Given the description of an element on the screen output the (x, y) to click on. 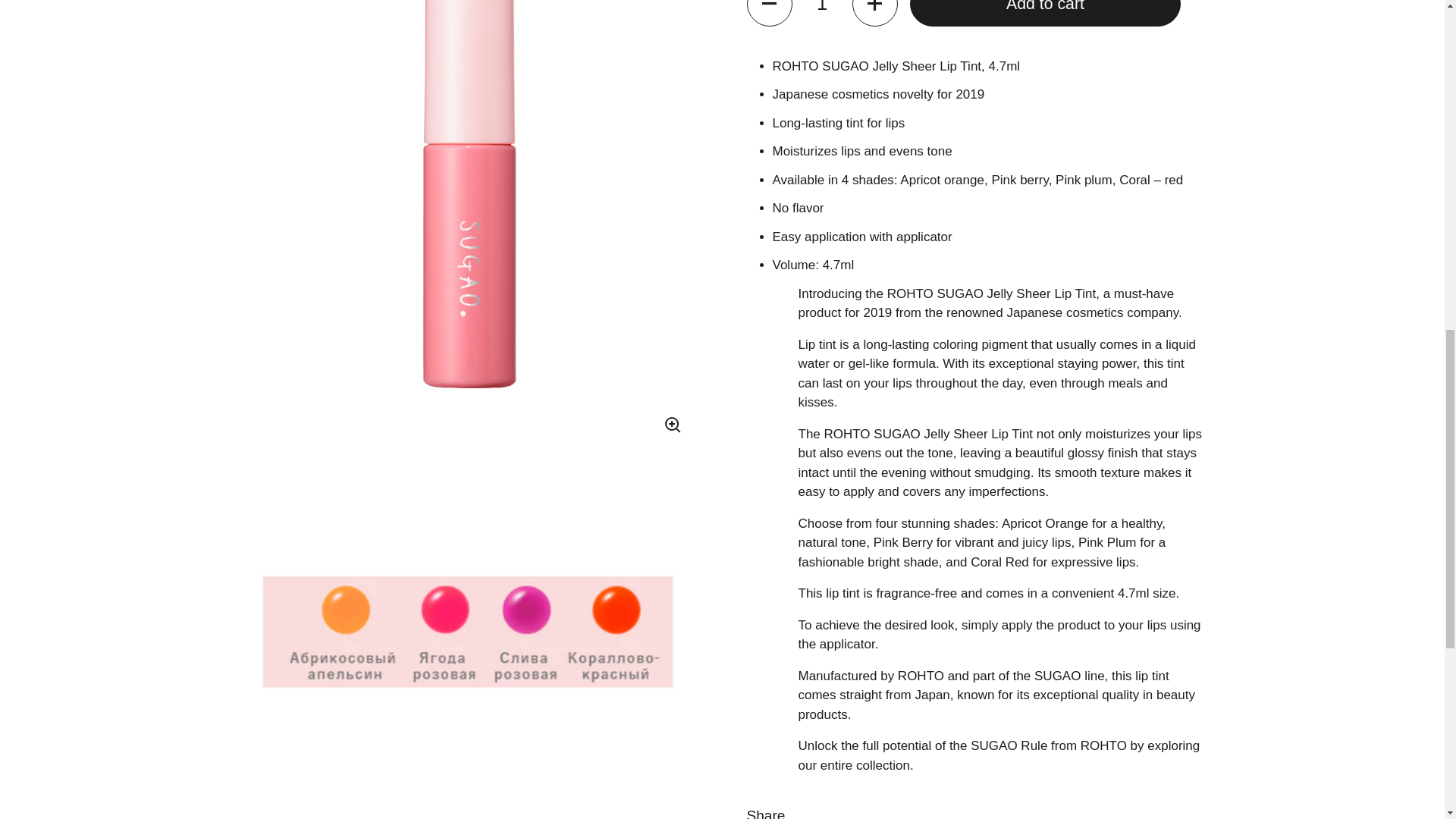
Share on facebook (785, 600)
Pinterest (980, 600)
Facebook (785, 600)
Share on X (885, 600)
Share on pinterest (980, 600)
